Given the description of an element on the screen output the (x, y) to click on. 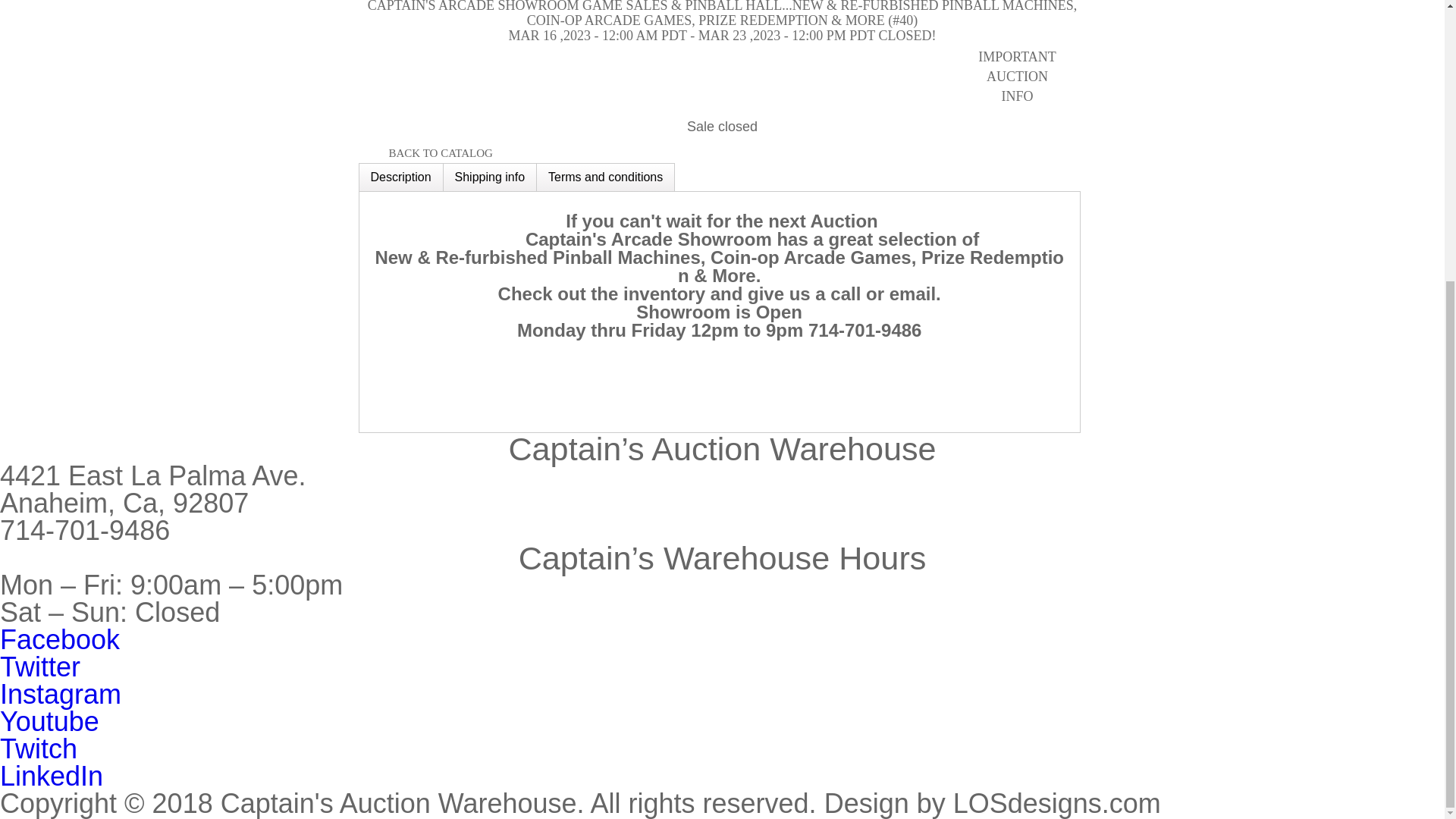
Terms and conditions (605, 176)
Twitter (40, 666)
LinkedIn (51, 775)
IMPORTANT AUCTION INFO (1030, 76)
Twitch (38, 748)
Facebook (59, 639)
Instagram (60, 694)
Youtube (49, 721)
BACK TO CATALOG (425, 152)
Description (400, 176)
Shipping info (489, 176)
